Given the description of an element on the screen output the (x, y) to click on. 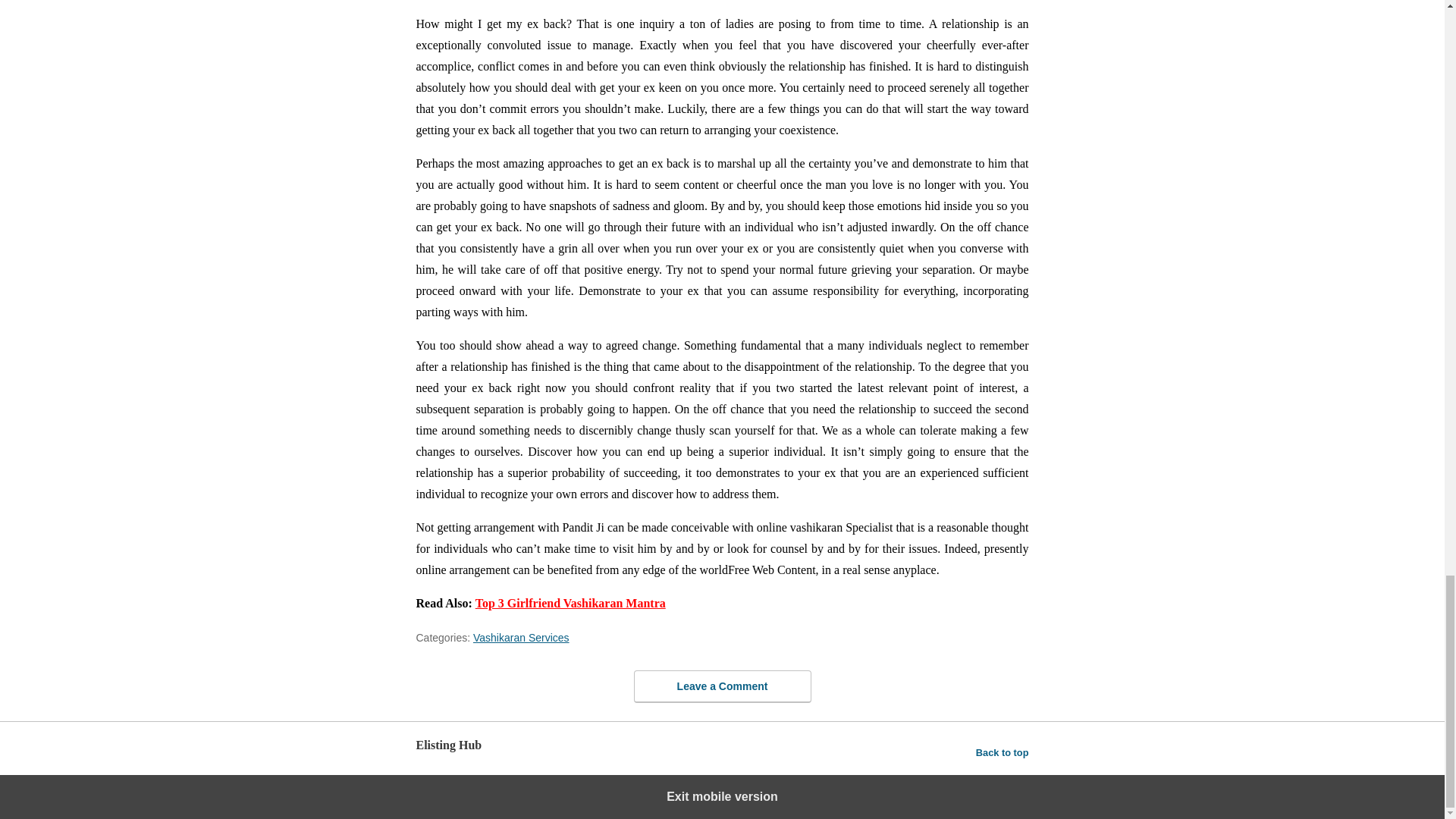
Top 3 Girlfriend Vashikaran Mantra (570, 603)
Back to top (1002, 752)
Vashikaran Services (521, 637)
Leave a Comment (721, 686)
